Given the description of an element on the screen output the (x, y) to click on. 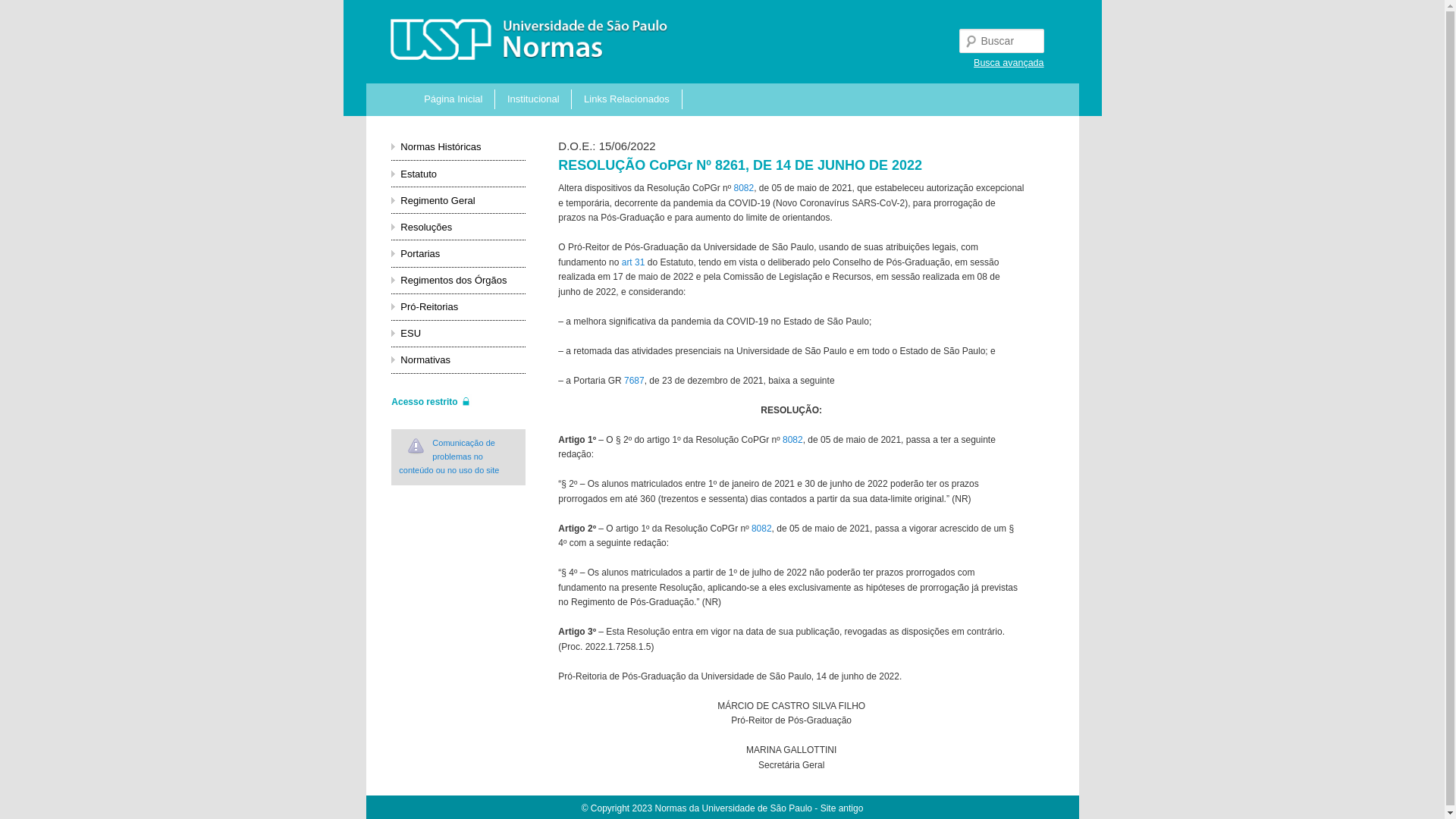
8082 Element type: text (743, 187)
8082 Element type: text (761, 528)
Normativas Element type: text (425, 359)
Buscar Element type: text (23, 8)
8082 Element type: text (792, 439)
art 31 Element type: text (633, 262)
Site antigo Element type: text (841, 808)
Acesso restrito Element type: text (430, 400)
Links Relacionados Element type: text (626, 99)
Skip to secondary content Element type: text (499, 94)
Institucional Element type: text (533, 99)
Regimento Geral Element type: text (437, 200)
Skip to primary content Element type: text (492, 94)
ESU Element type: text (410, 332)
7687 Element type: text (634, 380)
Estatuto Element type: text (418, 173)
Portarias Element type: text (419, 253)
